Given the description of an element on the screen output the (x, y) to click on. 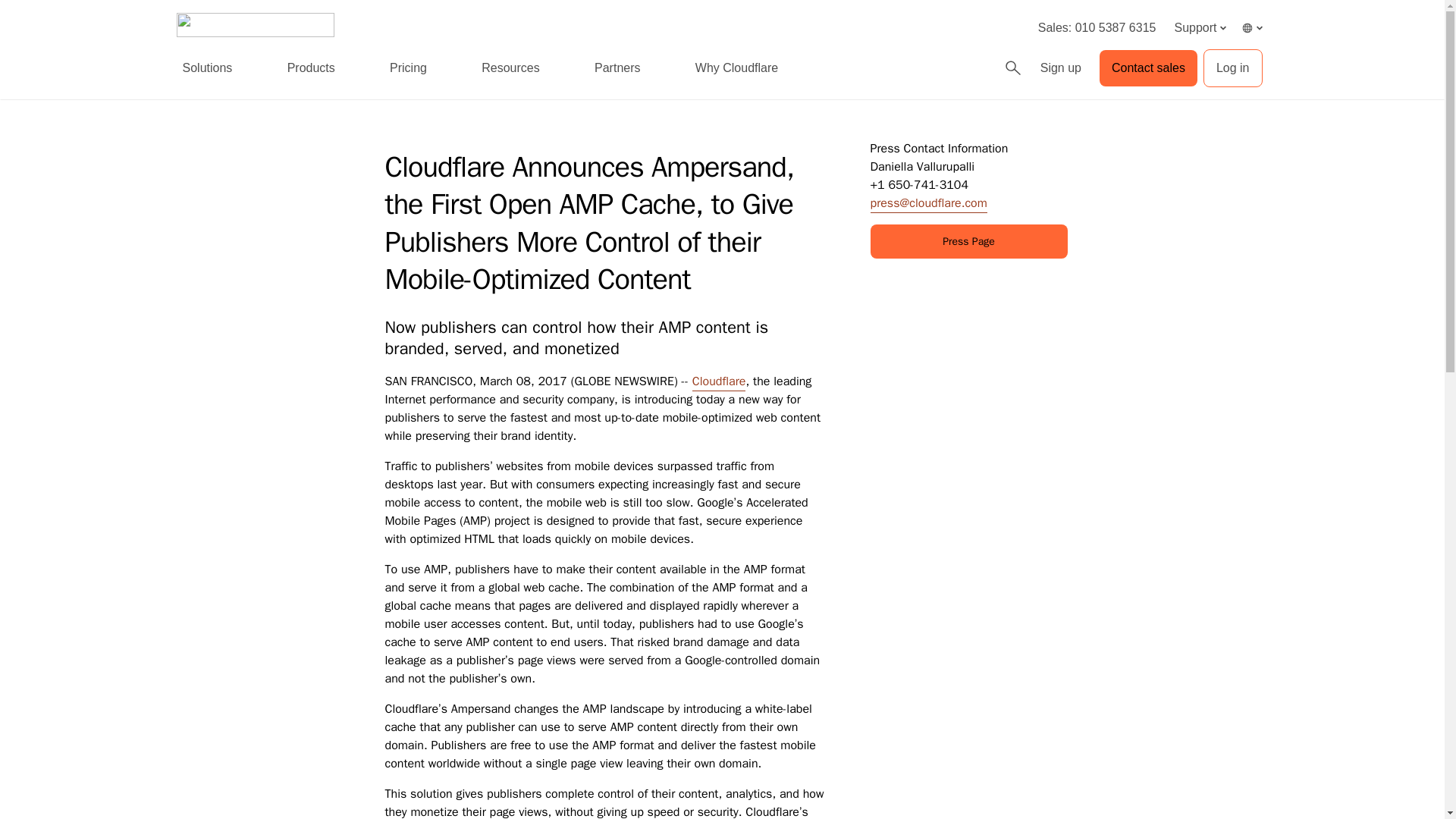
Pricing (408, 68)
Why Cloudflare (736, 68)
Sign up (1060, 67)
Log in (1233, 67)
Resources (510, 68)
Partners (617, 68)
Products (310, 68)
Press Page (968, 241)
Solutions (207, 68)
Contact sales (1147, 67)
